Given the description of an element on the screen output the (x, y) to click on. 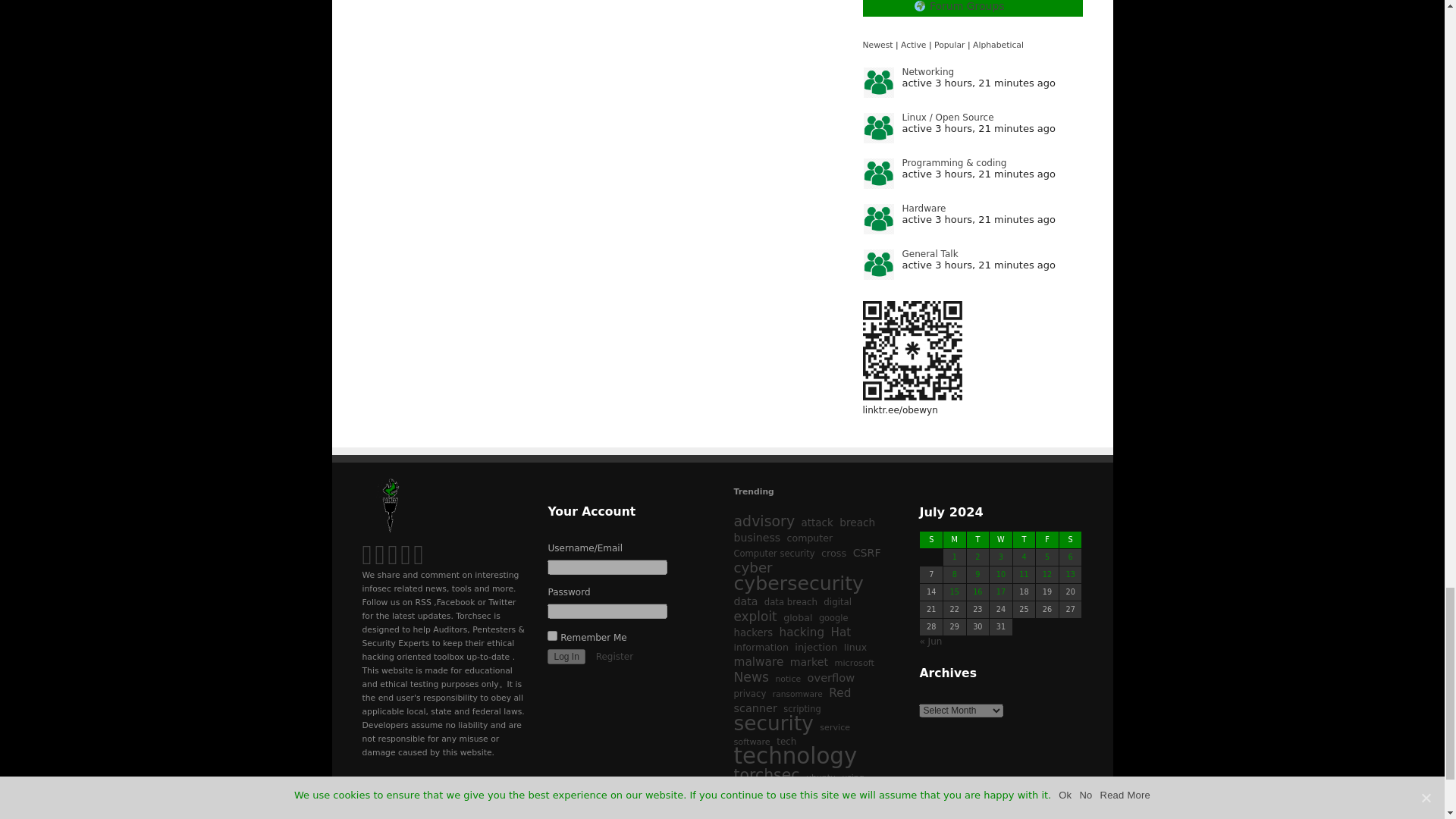
Log In (566, 656)
forever (552, 635)
